Given the description of an element on the screen output the (x, y) to click on. 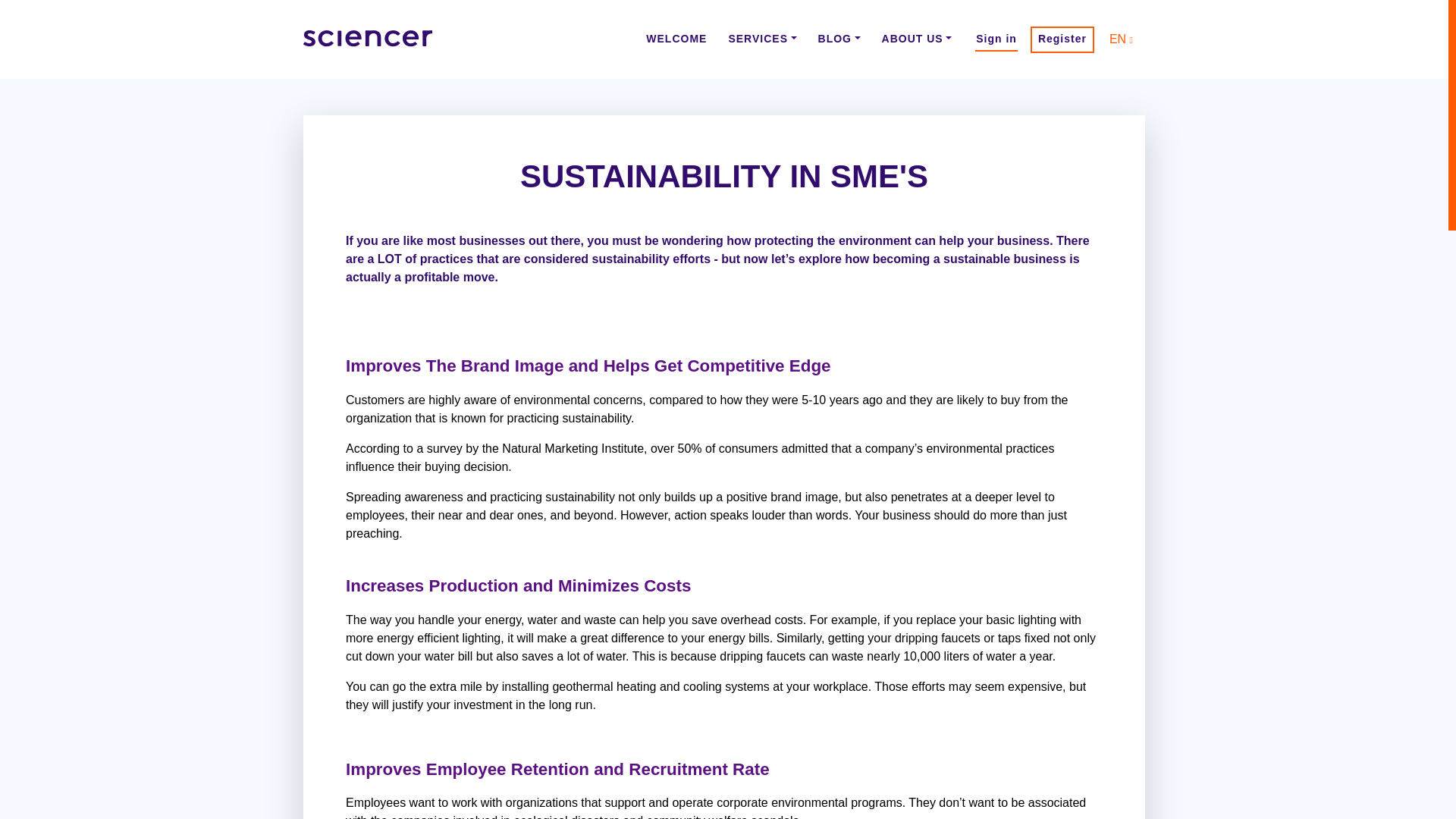
Register (1062, 38)
SERVICES (762, 38)
BLOG (839, 38)
ABOUT US (917, 38)
Sign in (996, 38)
EN (1120, 39)
ABOUT US (917, 38)
Sign in (996, 38)
BLOG (839, 38)
Register (1062, 38)
WELCOME (676, 38)
SERVICES (762, 38)
WELCOME (676, 38)
